Given the description of an element on the screen output the (x, y) to click on. 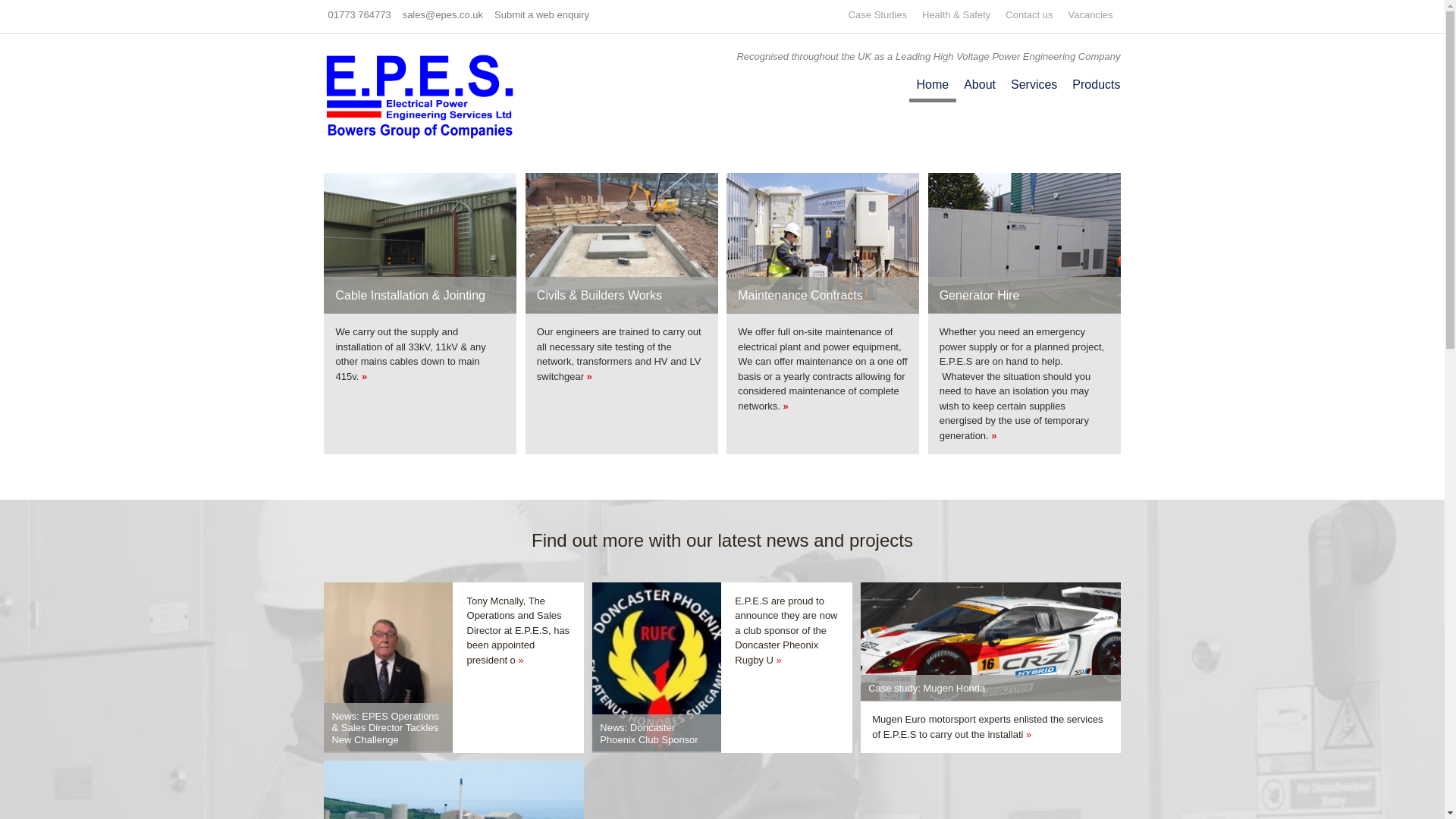
01773 764773 (358, 14)
Submit a web enquiry (542, 14)
Contact us (1029, 14)
About (979, 84)
Vacancies (1089, 14)
Products (1091, 84)
Services (1033, 84)
E.P.E.S (419, 93)
Home (932, 86)
Case Studies (877, 14)
